Given the description of an element on the screen output the (x, y) to click on. 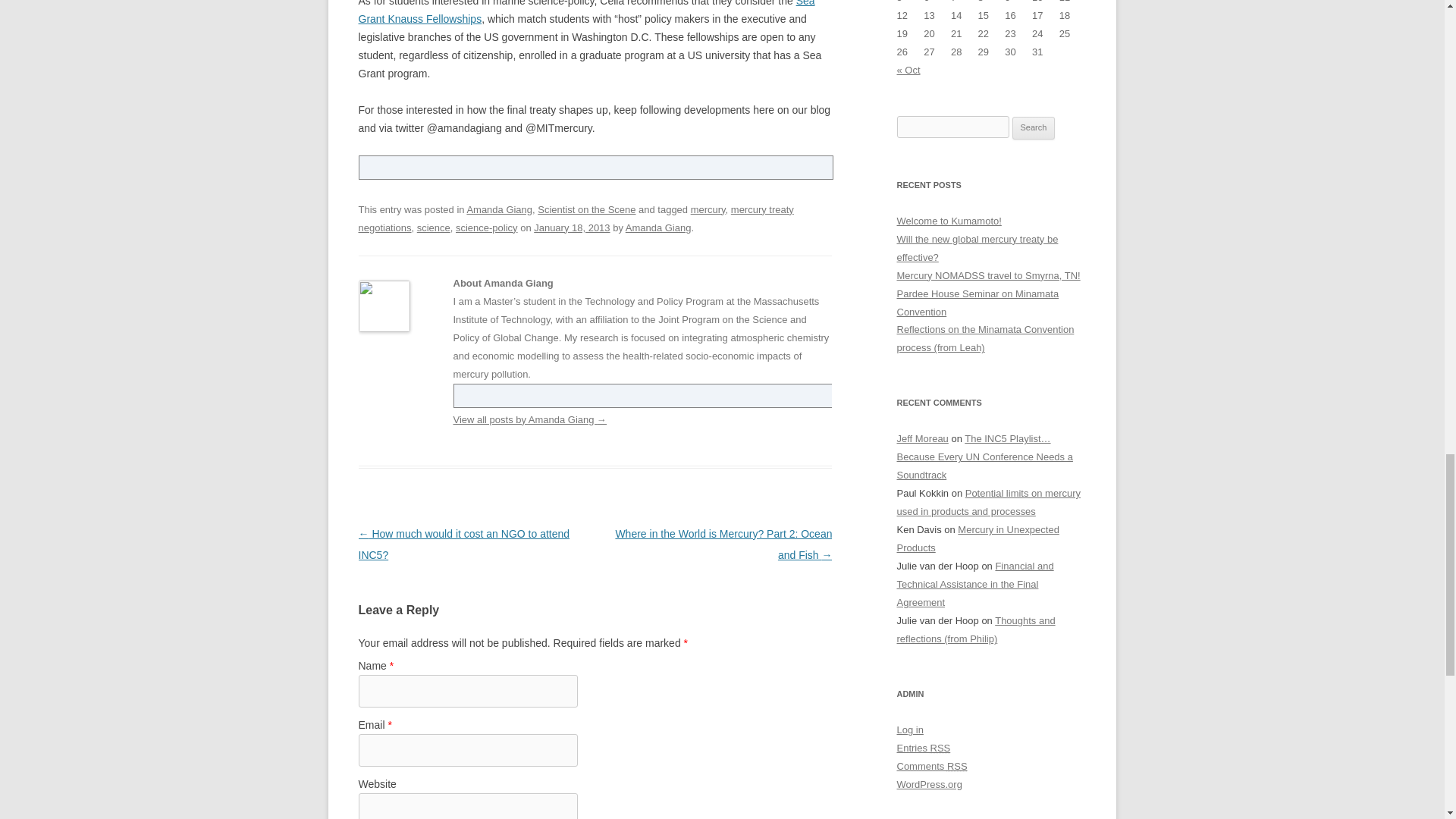
View all posts in Scientist on the Scene (585, 209)
Scientist on the Scene (585, 209)
mercury (707, 209)
January 18, 2013 (572, 227)
science (432, 227)
Sea Grant Knauss Fellowships (585, 12)
View all posts in Amanda Giang (498, 209)
mercury treaty negotiations (575, 218)
Amanda Giang (658, 227)
1:23 pm (572, 227)
